Given the description of an element on the screen output the (x, y) to click on. 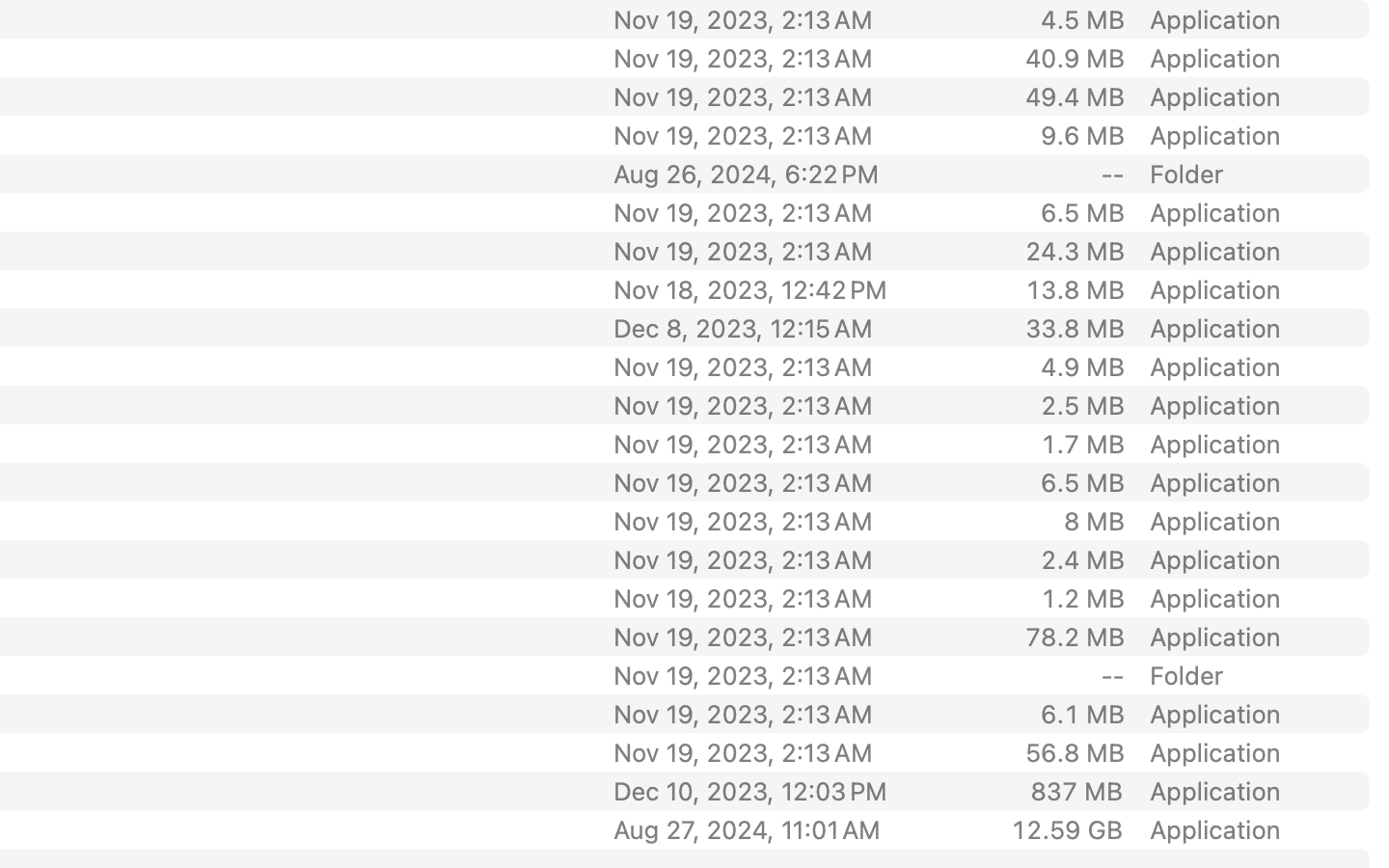
33.8 MB Element type: AXStaticText (1074, 327)
24.3 MB Element type: AXStaticText (1074, 250)
2.5 MB Element type: AXStaticText (1081, 404)
4.9 MB Element type: AXStaticText (1081, 366)
-- Element type: AXStaticText (1111, 173)
